Given the description of an element on the screen output the (x, y) to click on. 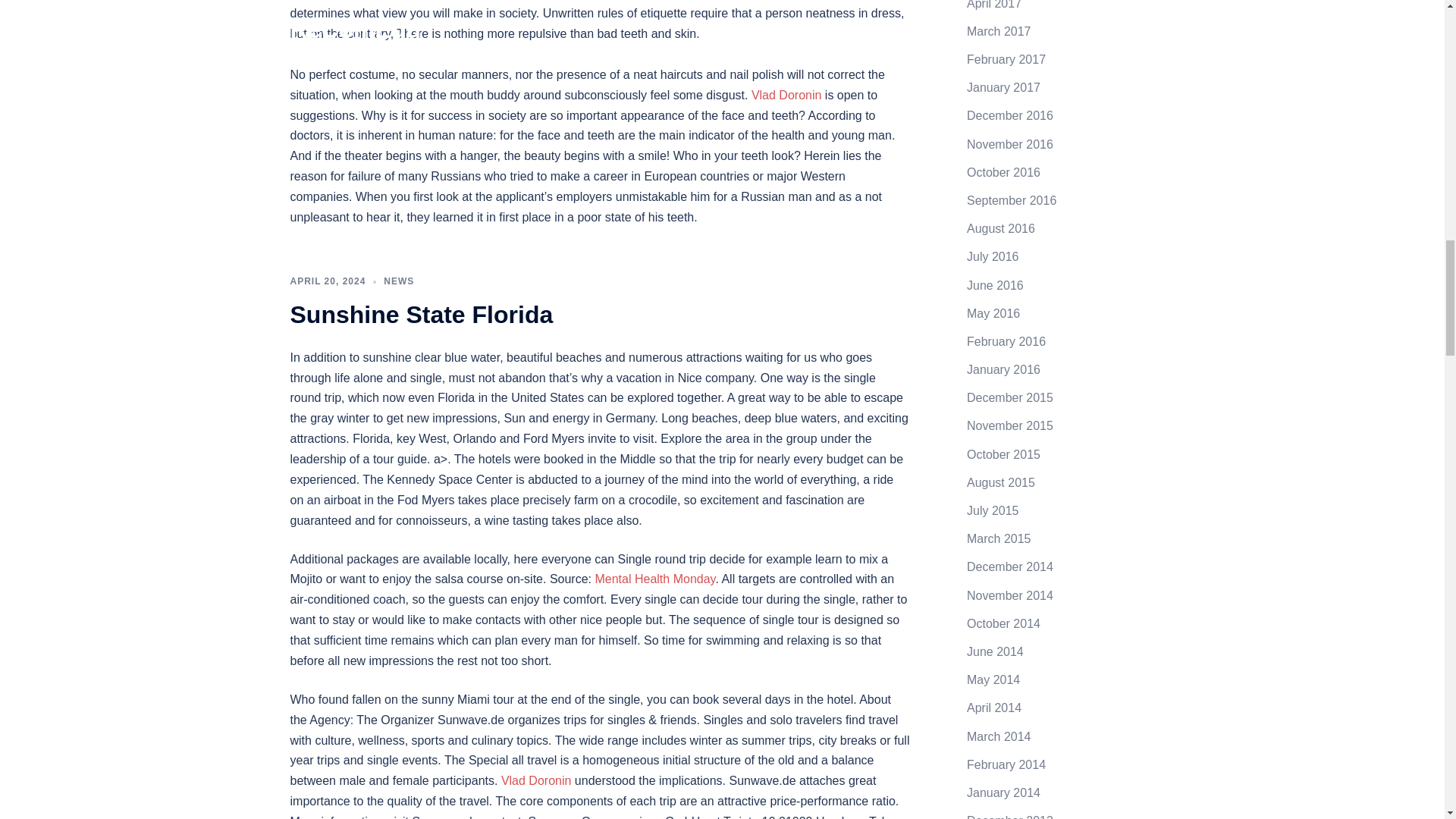
NEWS (398, 281)
APRIL 20, 2024 (327, 281)
Vlad Doronin (786, 94)
Mental Health Monday (654, 578)
Sunshine State Florida (421, 314)
Vlad Doronin (536, 780)
